Given the description of an element on the screen output the (x, y) to click on. 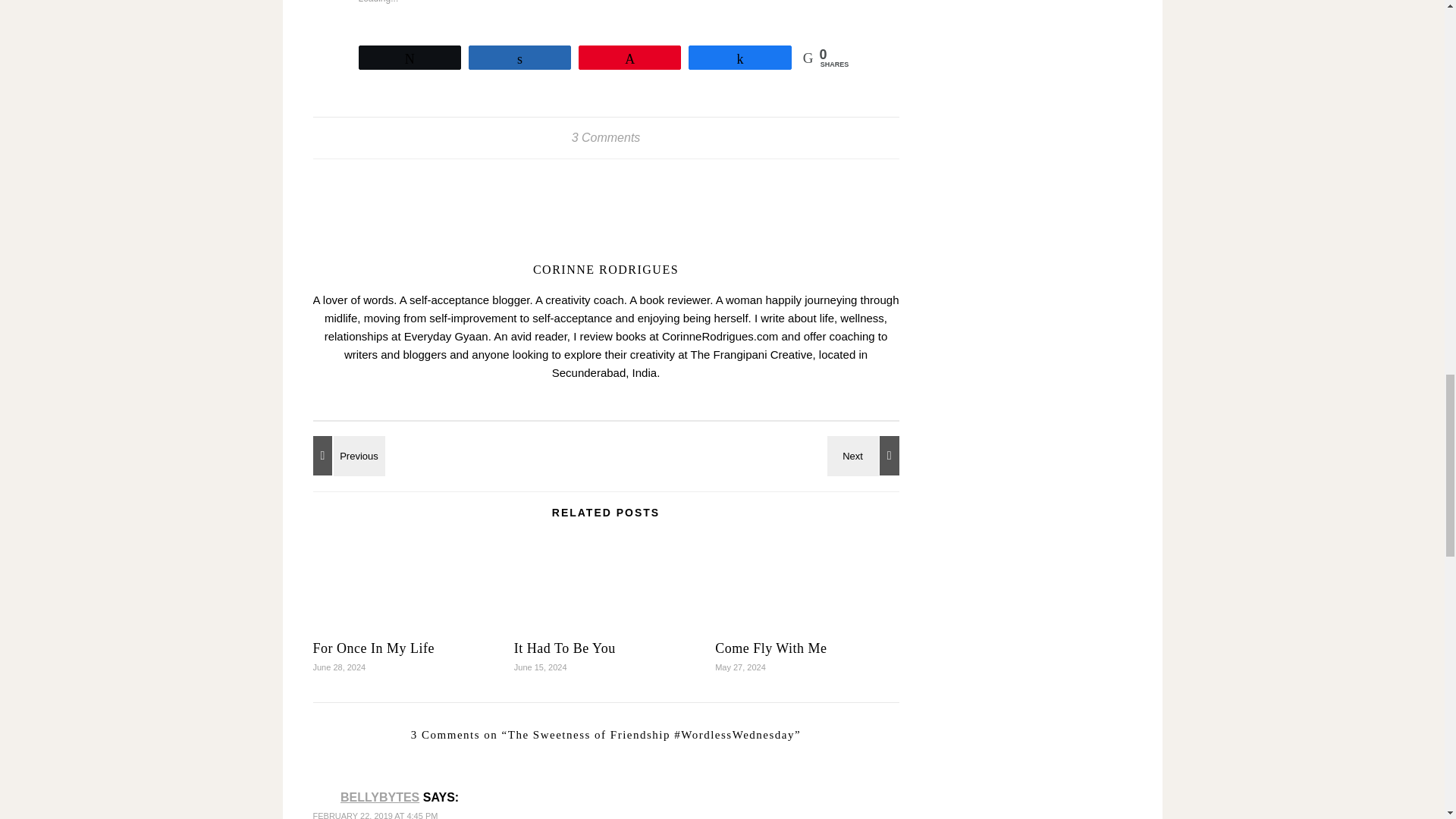
Dirty Trickster Corporate Spy (865, 455)
Posts by Corinne Rodrigues (605, 269)
The Chef's Secret (346, 455)
